Given the description of an element on the screen output the (x, y) to click on. 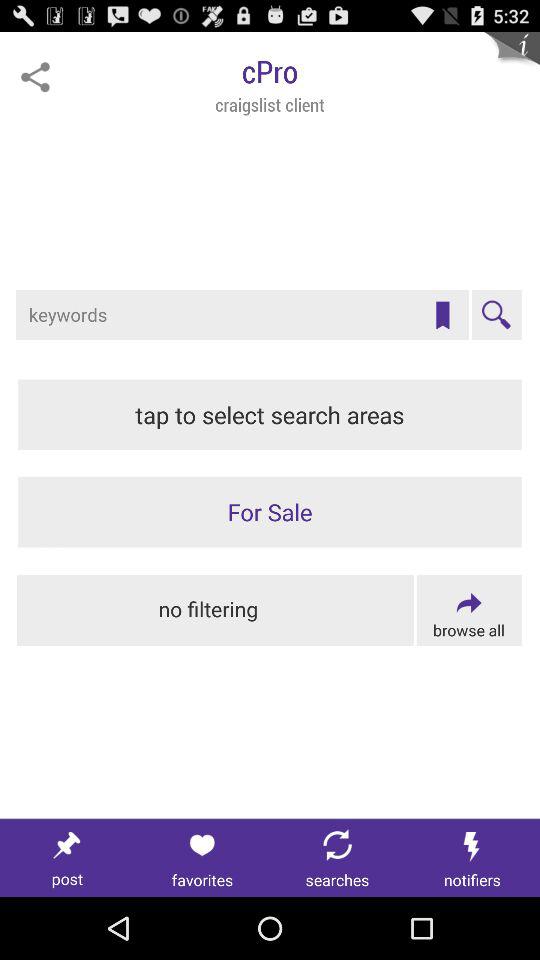
more information (511, 59)
